Given the description of an element on the screen output the (x, y) to click on. 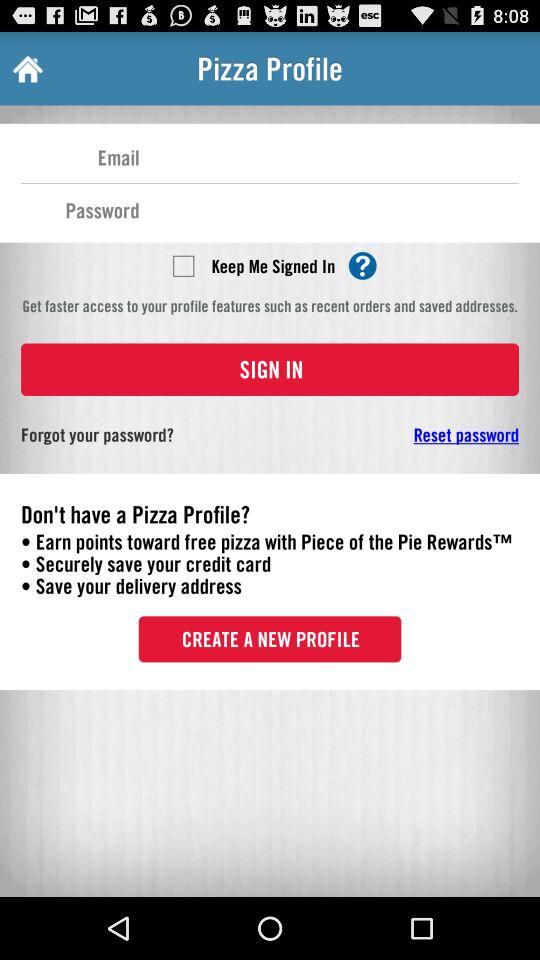
launch create a new item (269, 639)
